Given the description of an element on the screen output the (x, y) to click on. 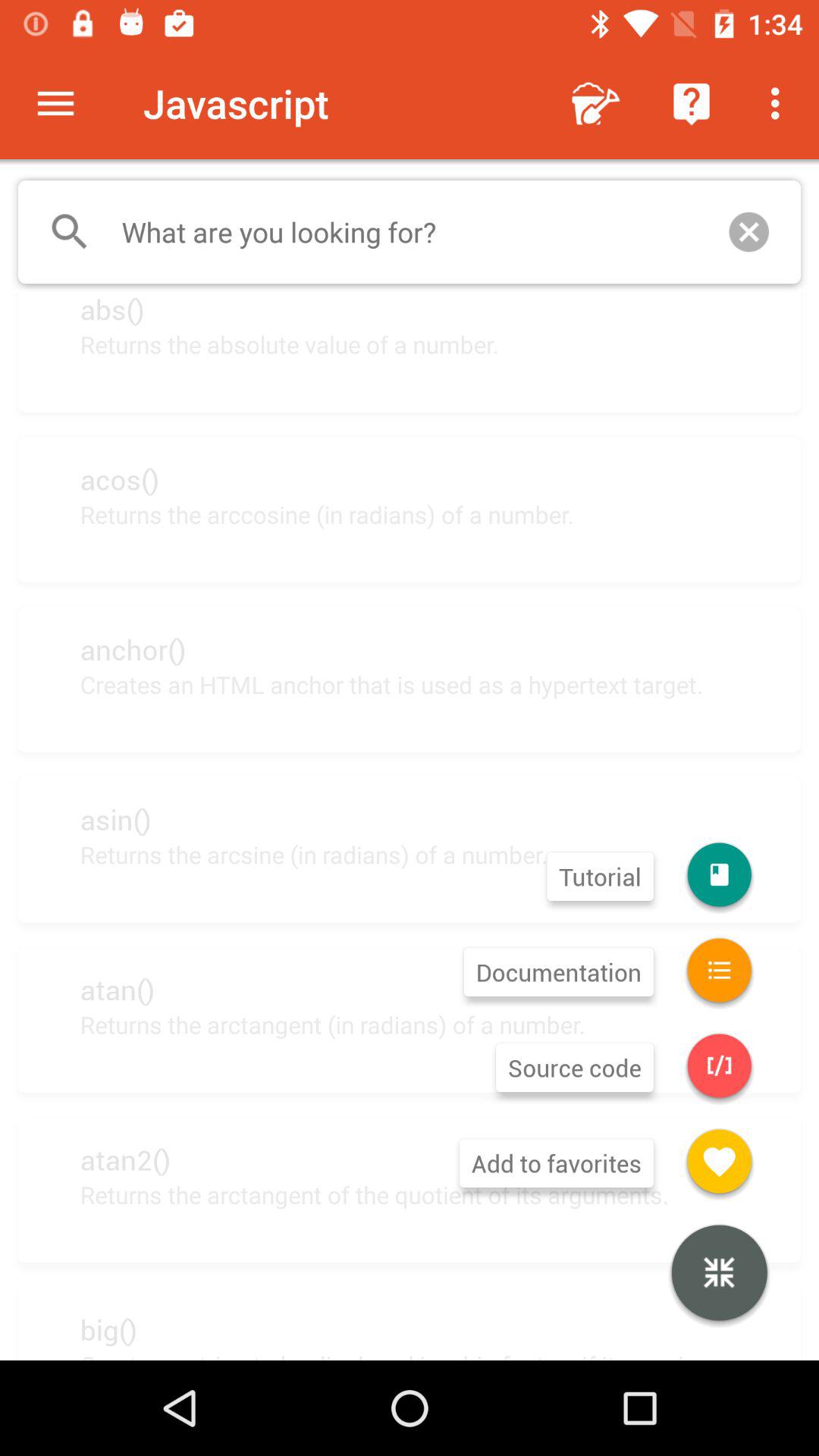
launch the item to the right of the returns the arctangent (719, 1274)
